Given the description of an element on the screen output the (x, y) to click on. 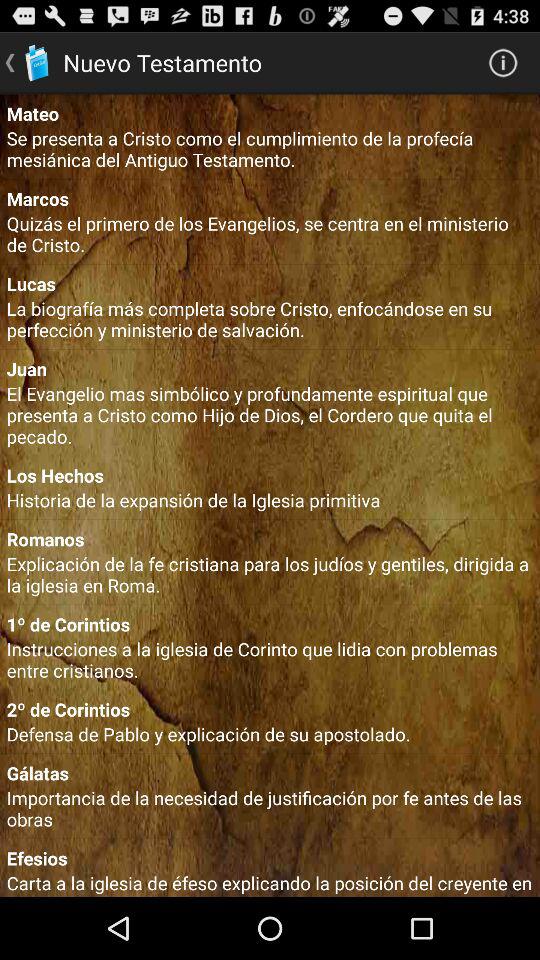
click the romanos icon (269, 538)
